Given the description of an element on the screen output the (x, y) to click on. 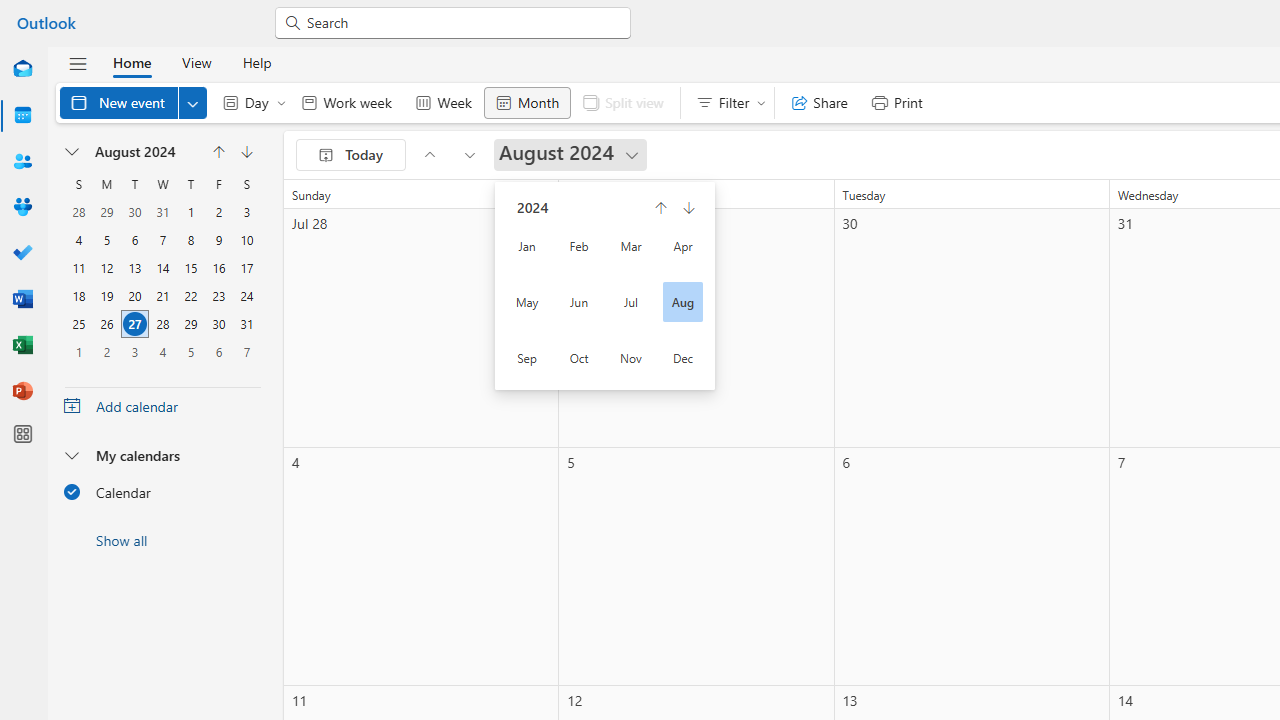
28, August, 2024 (163, 323)
9, August, 2024 (218, 239)
5, September, 2024 (191, 351)
30, July, 2024 (134, 211)
14, August, 2024 (162, 268)
Search (461, 21)
13, August, 2024 (134, 268)
19, August, 2024 (107, 296)
Add calendar (162, 406)
31, July, 2024 (163, 211)
24, August, 2024 (246, 296)
Date selector (73, 152)
25, August, 2024 (78, 323)
Show all (162, 540)
3, September, 2024 (134, 351)
